Given the description of an element on the screen output the (x, y) to click on. 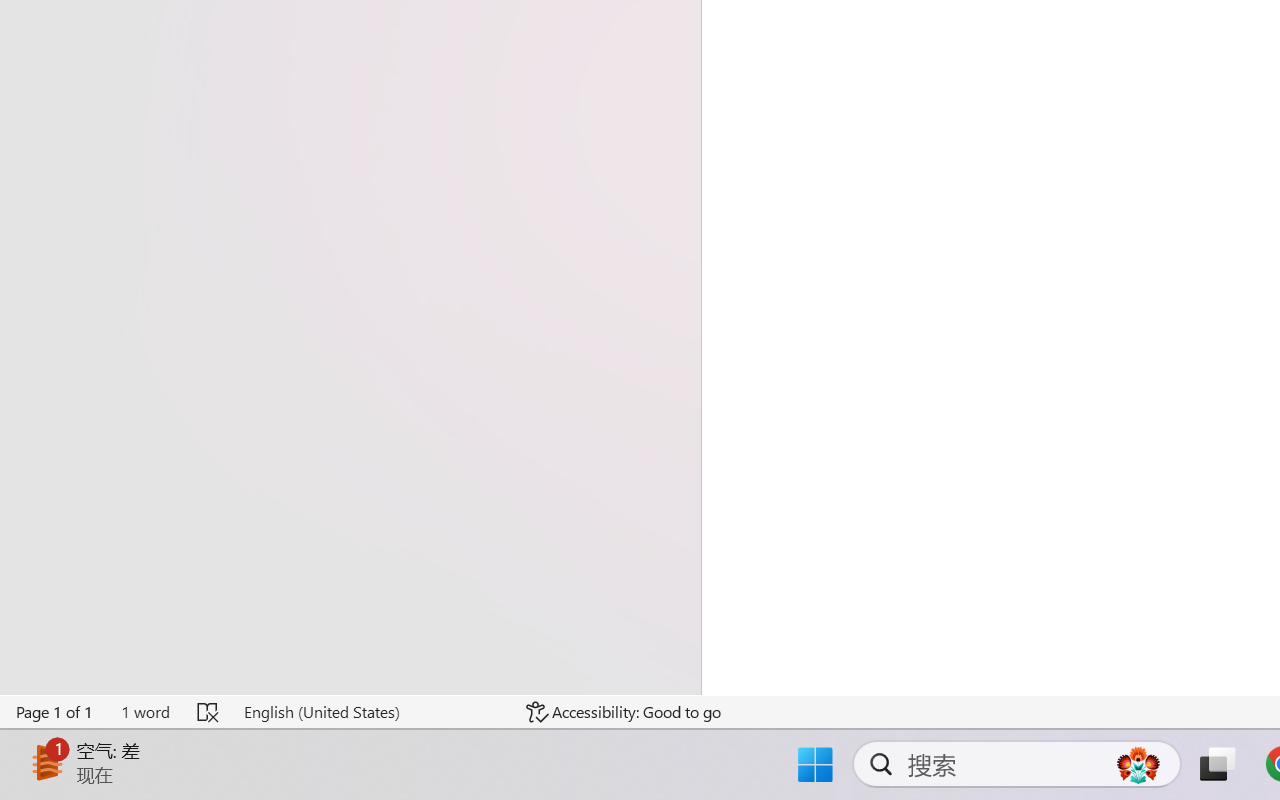
Spelling and Grammar Check Errors (208, 712)
